Given the description of an element on the screen output the (x, y) to click on. 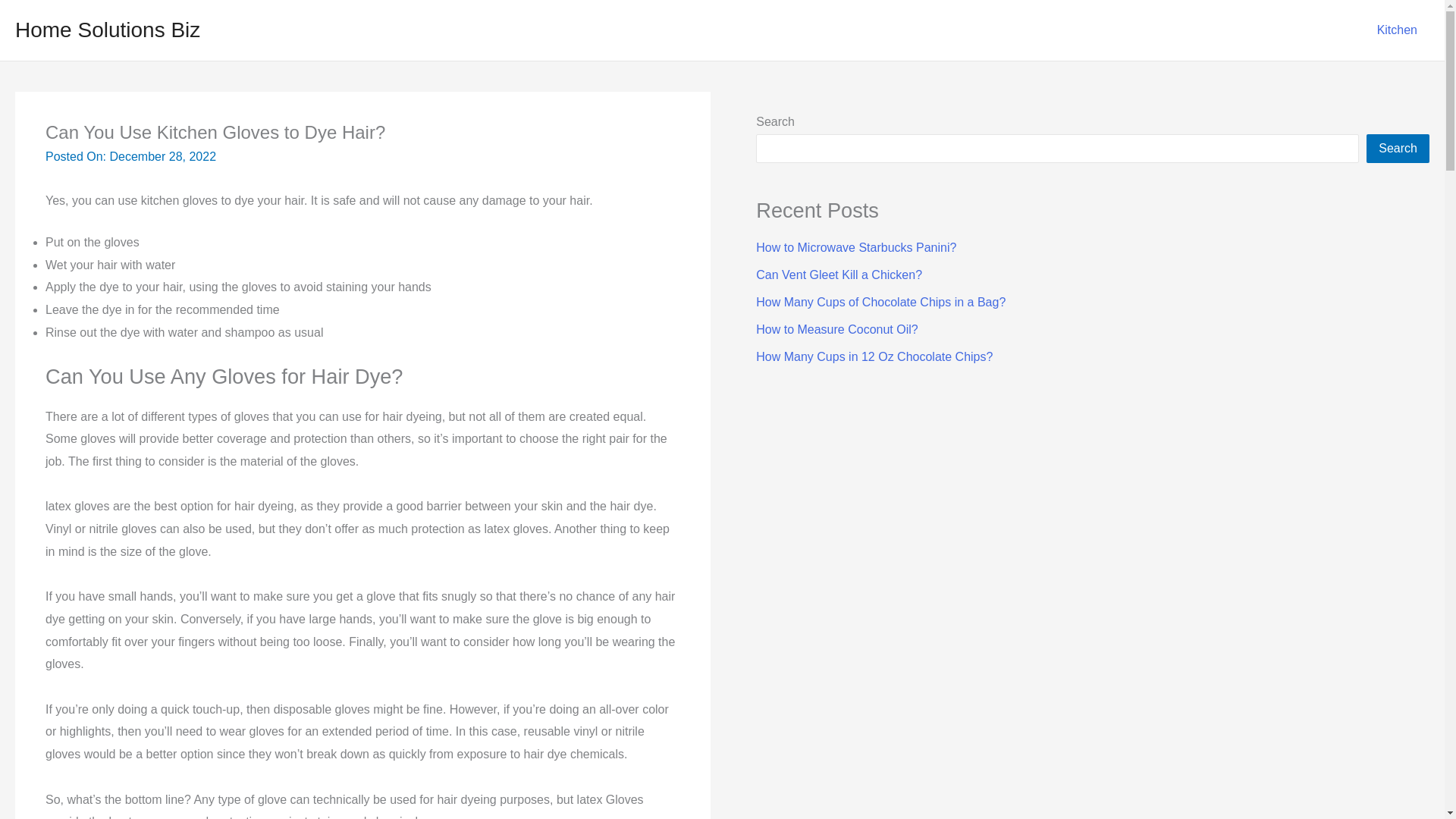
How to Microwave Starbucks Panini? (855, 246)
Home Solutions Biz (107, 29)
How to Measure Coconut Oil? (836, 328)
Kitchen (1397, 30)
Can Vent Gleet Kill a Chicken? (838, 274)
Search (1398, 148)
How Many Cups of Chocolate Chips in a Bag? (880, 301)
How Many Cups in 12 Oz Chocolate Chips? (873, 356)
